Given the description of an element on the screen output the (x, y) to click on. 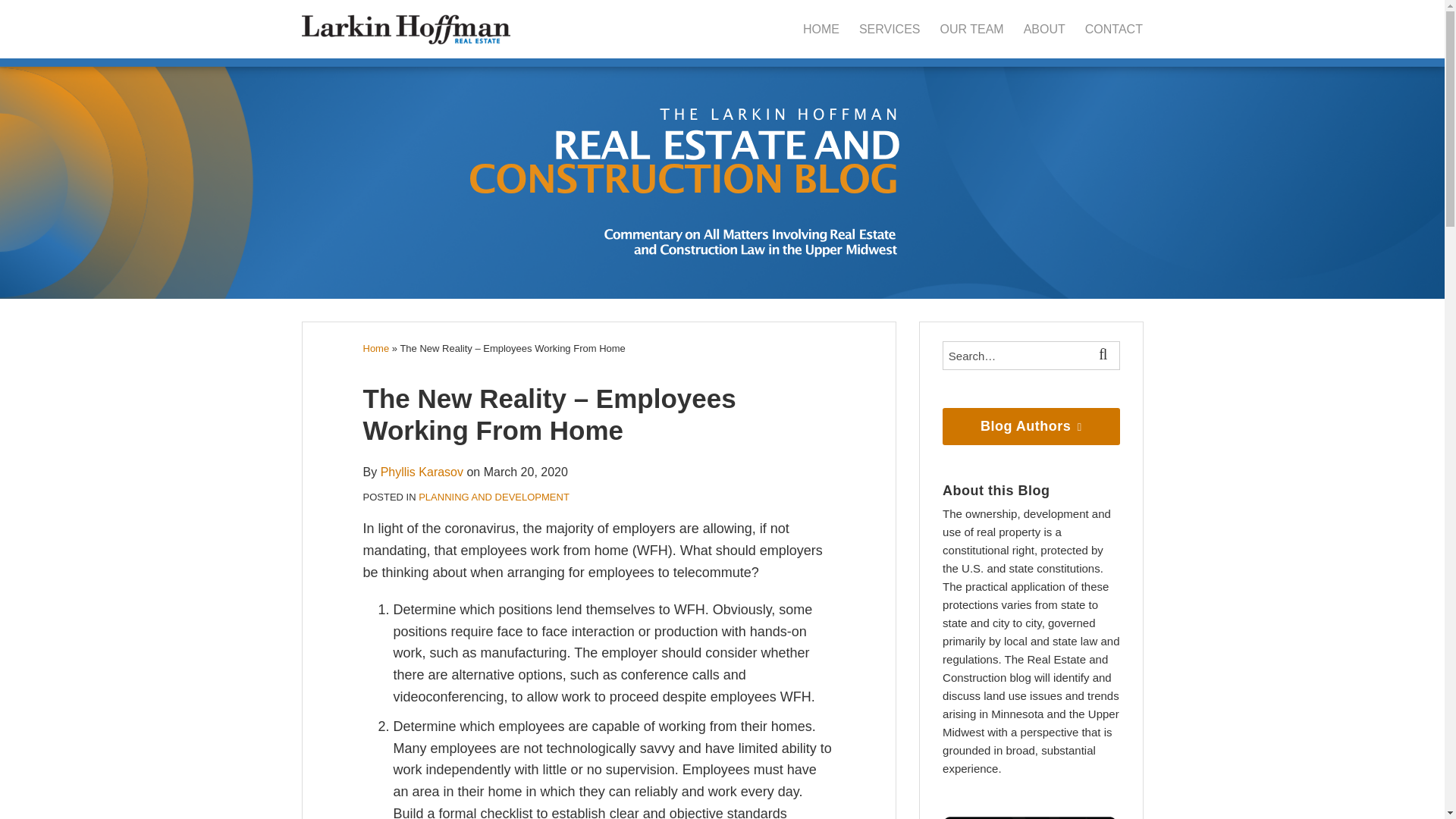
SERVICES (889, 29)
PLANNING AND DEVELOPMENT (494, 496)
Home (375, 348)
ABOUT (1044, 29)
Phyllis Karasov (421, 472)
CONTACT (1113, 29)
HOME (821, 29)
OUR TEAM (972, 29)
SEARCH (1105, 355)
